Given the description of an element on the screen output the (x, y) to click on. 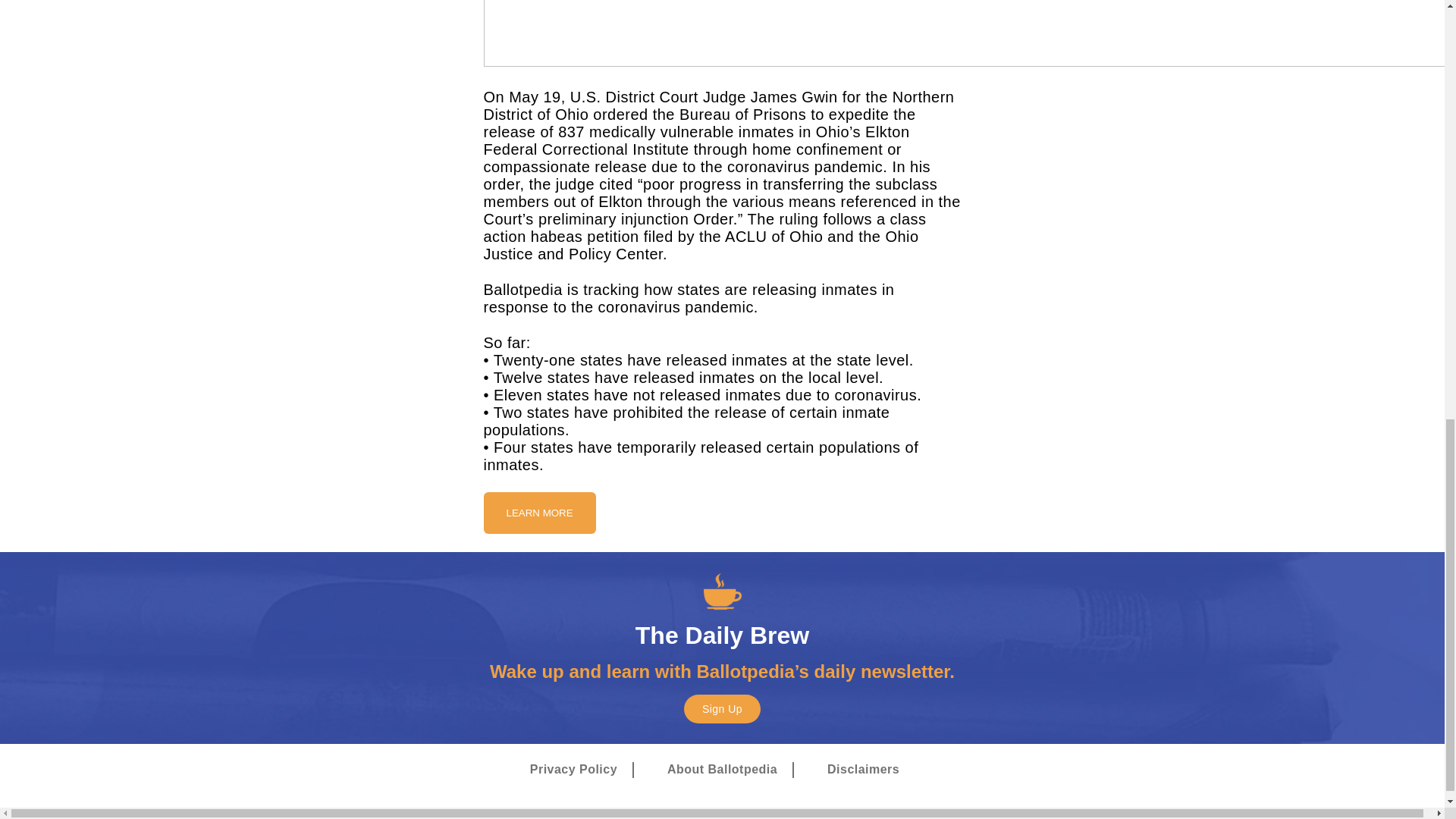
Privacy Policy (573, 770)
Disclaimers (863, 770)
Sign Up (722, 708)
LEARN MORE (539, 512)
LEARN MORE (539, 512)
About Ballotpedia (721, 770)
